Given the description of an element on the screen output the (x, y) to click on. 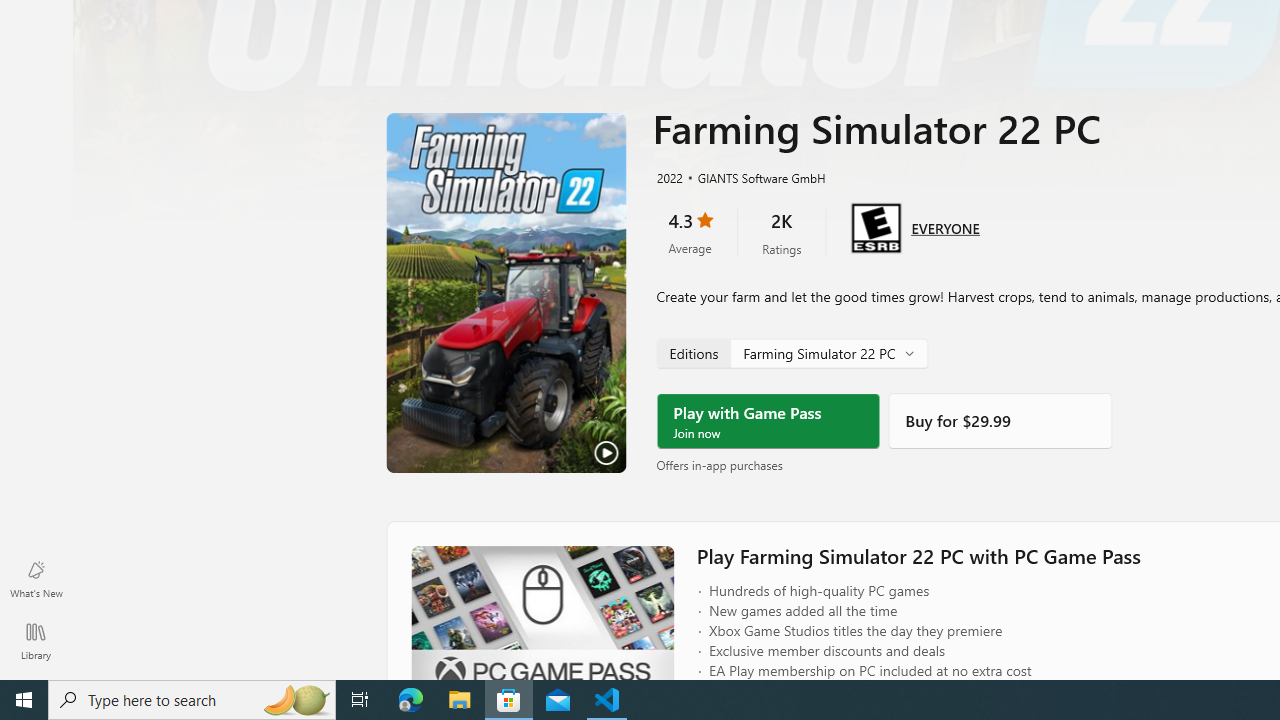
GIANTS Software GmbH (753, 177)
Age rating: EVERYONE. Click for more information. (945, 226)
Play Trailer (505, 293)
2022 (667, 177)
Farming Simulator 22 PC, Edition selector (791, 352)
Buy (1000, 421)
Play with Game Pass (767, 421)
4.3 stars. Click to skip to ratings and reviews (689, 232)
